Given the description of an element on the screen output the (x, y) to click on. 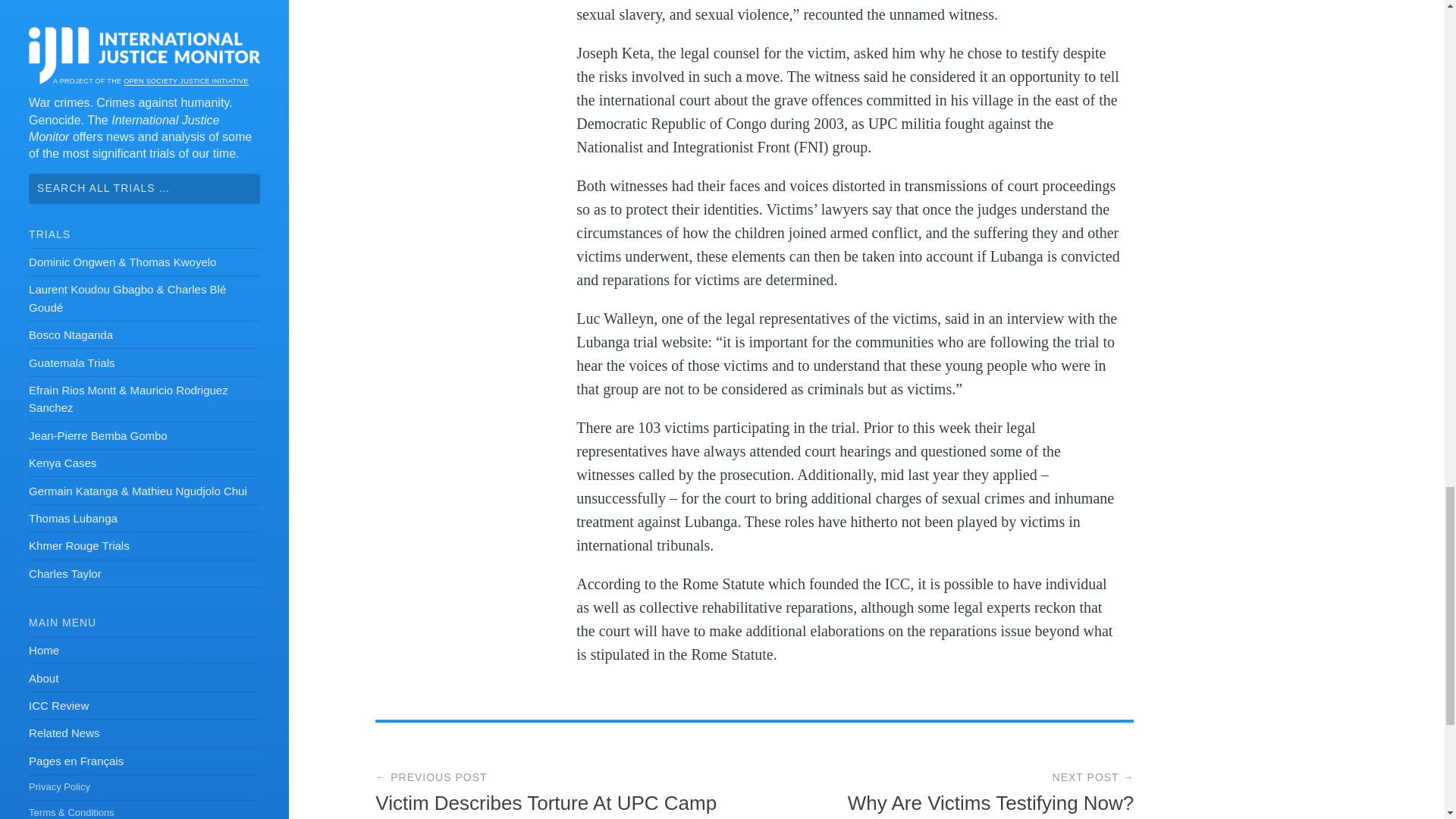
Why Are Victims Testifying Now? (990, 802)
Victim Describes Torture At UPC Camp (545, 802)
